Given the description of an element on the screen output the (x, y) to click on. 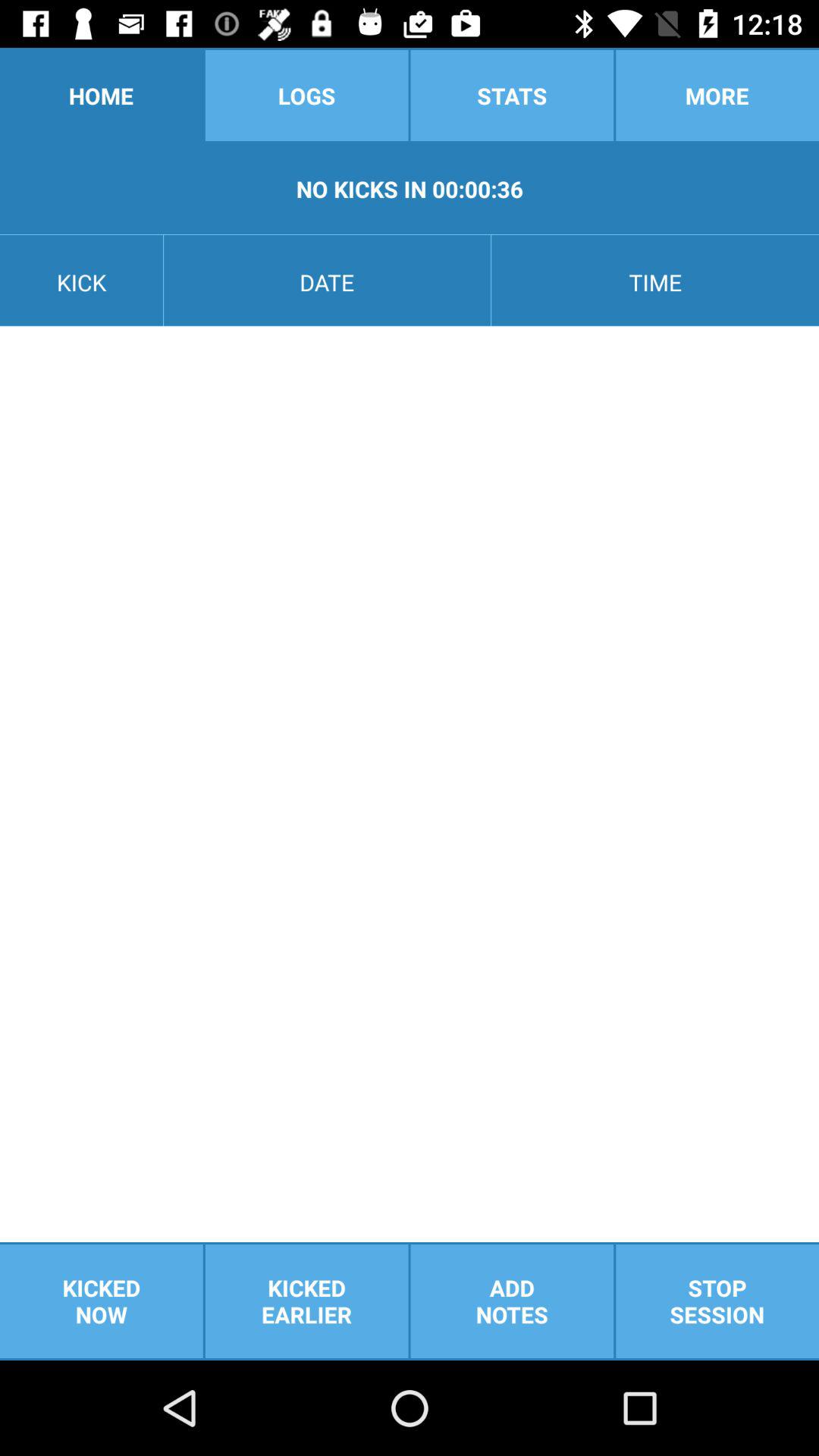
flip to logs (306, 95)
